Given the description of an element on the screen output the (x, y) to click on. 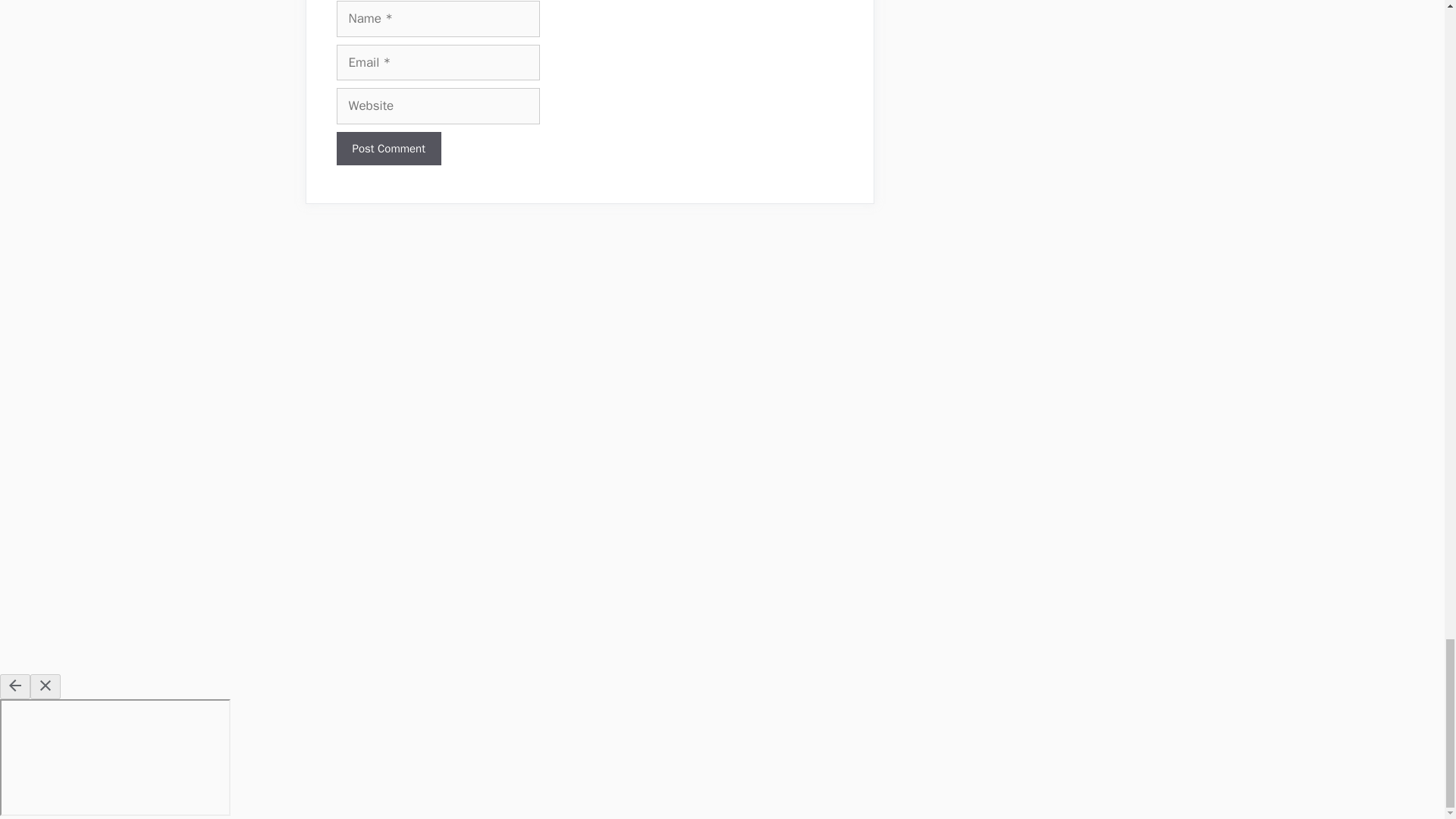
Post Comment (388, 148)
Post Comment (388, 148)
